Given the description of an element on the screen output the (x, y) to click on. 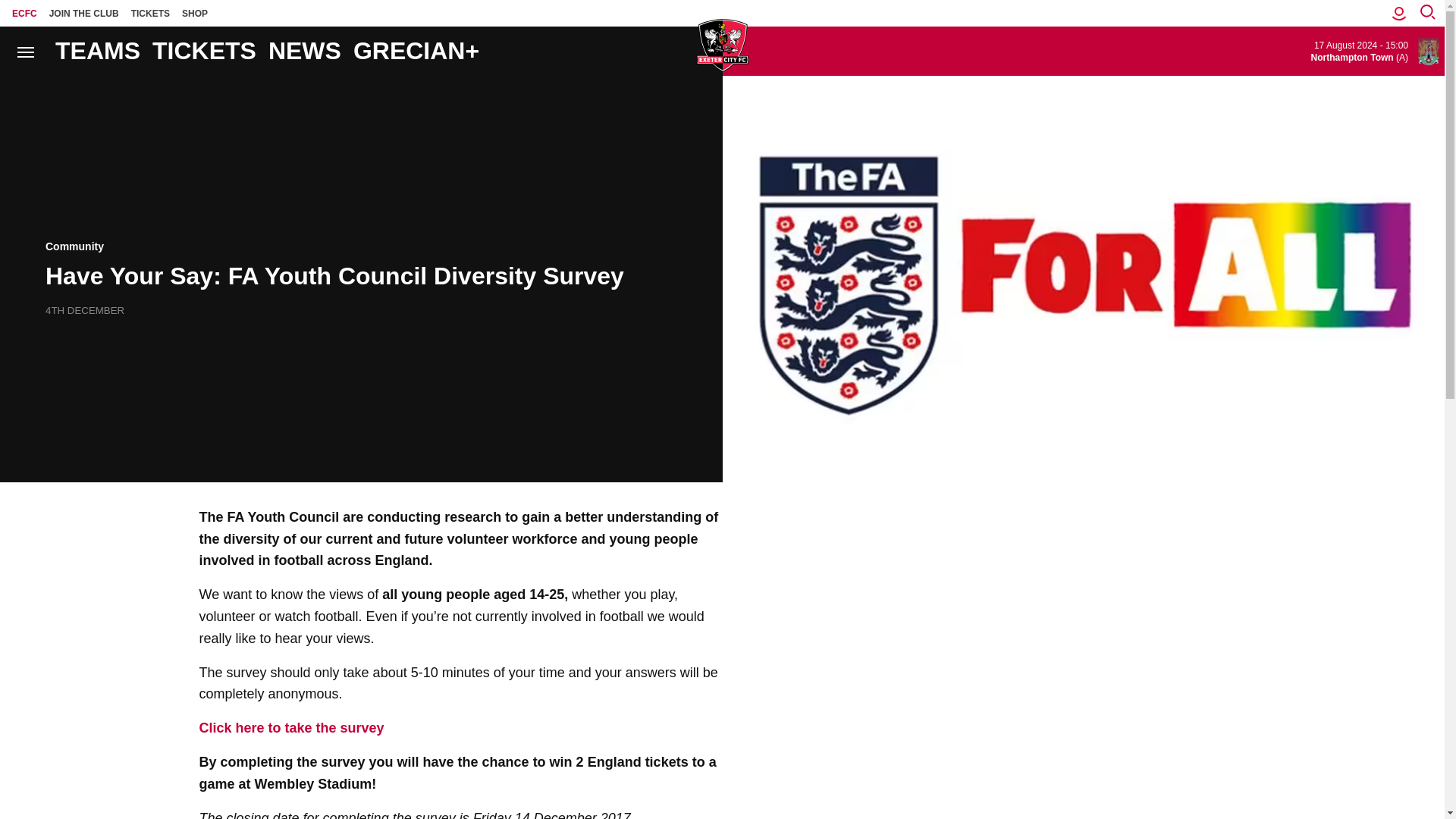
ECFC (24, 13)
JOIN THE CLUB (84, 13)
TICKETS (150, 13)
SHOP (195, 13)
